Given the description of an element on the screen output the (x, y) to click on. 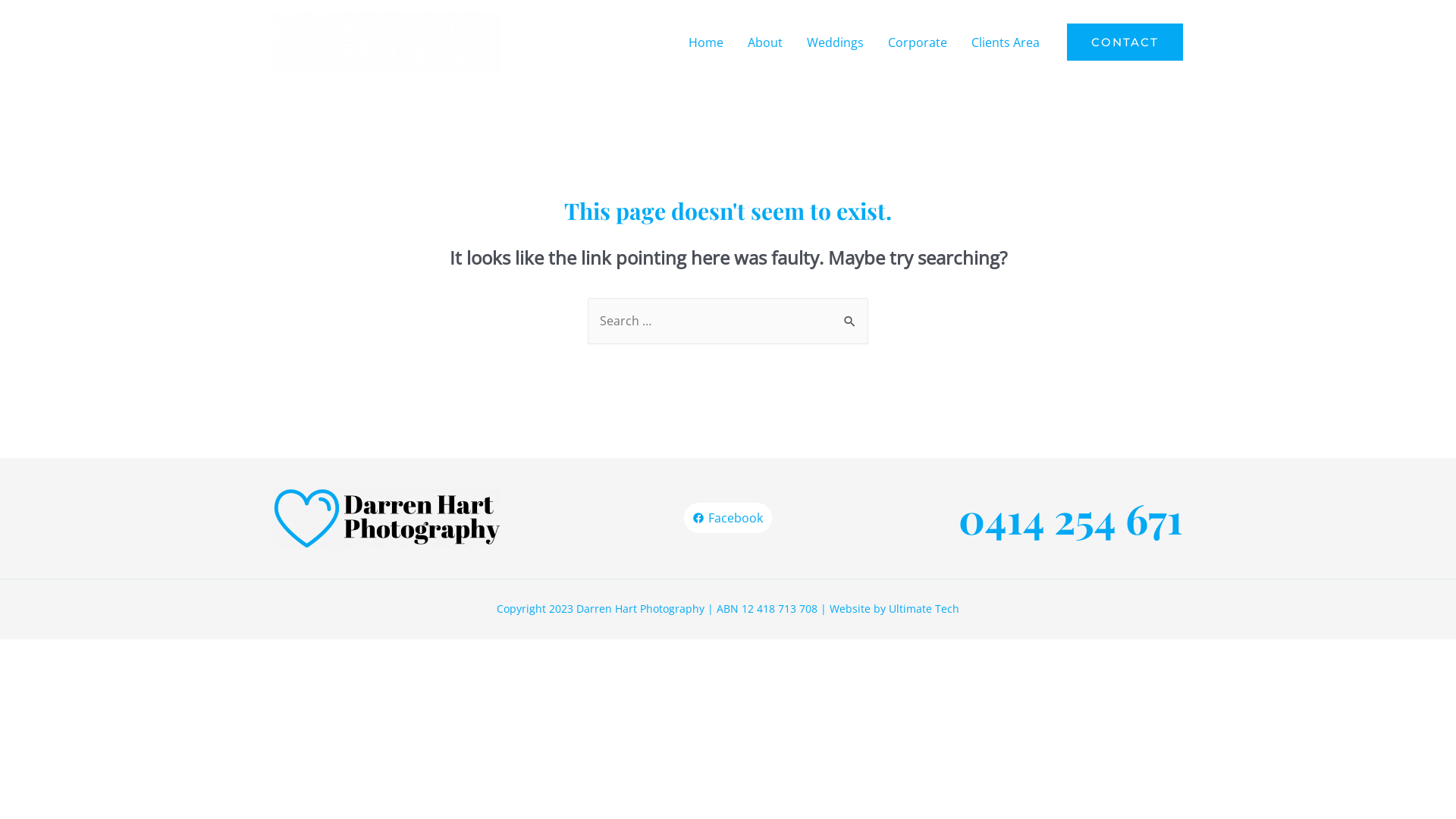
Home Element type: text (705, 41)
Search Element type: text (851, 312)
Weddings Element type: text (834, 41)
About Element type: text (764, 41)
Ultimate Tech Element type: text (923, 608)
0414 254 671 Element type: text (1070, 517)
Corporate Element type: text (917, 41)
CONTACT Element type: text (1124, 41)
Clients Area Element type: text (1005, 41)
Facebook Element type: text (727, 517)
